Given the description of an element on the screen output the (x, y) to click on. 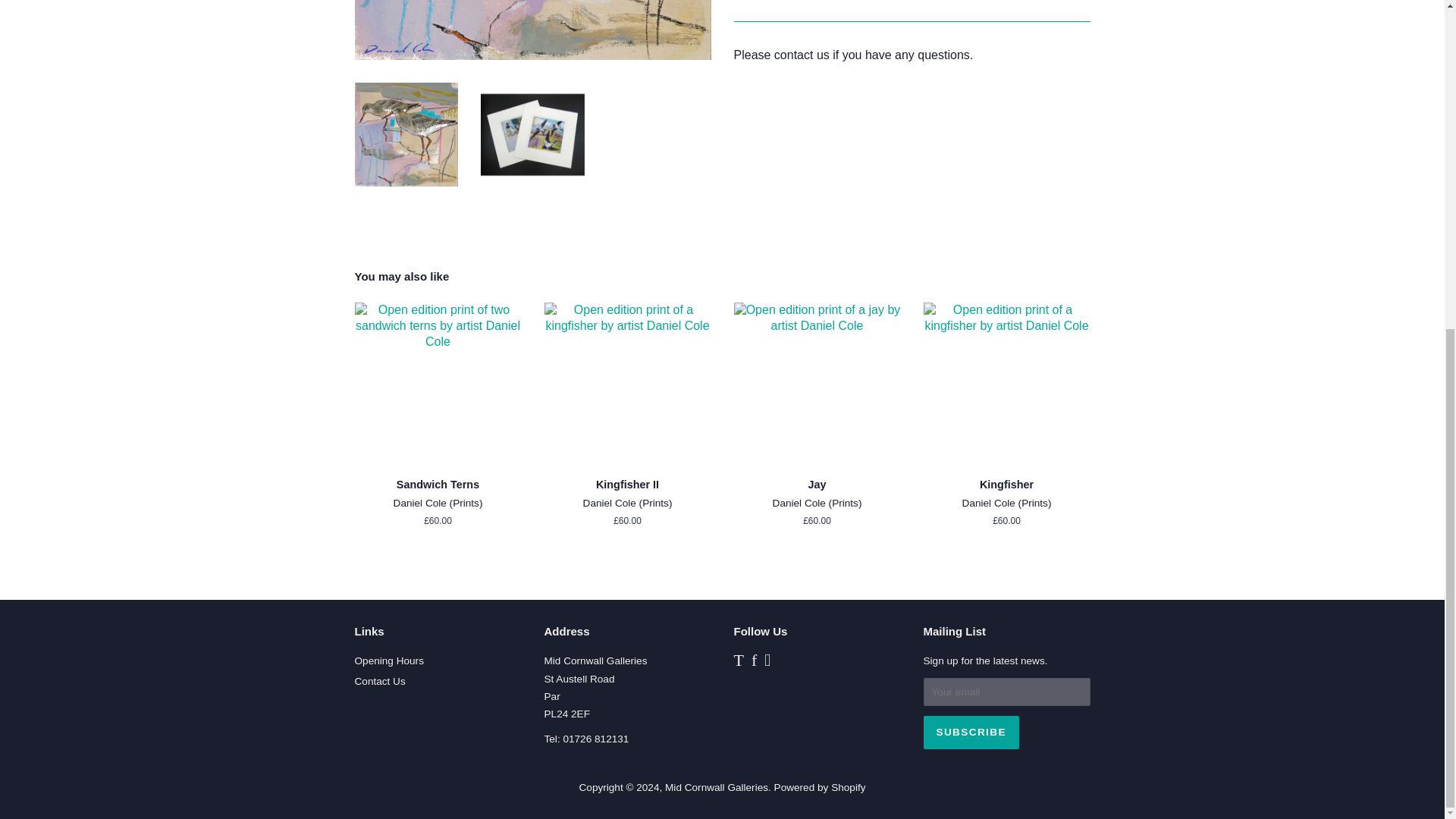
Subscribe (971, 732)
